Given the description of an element on the screen output the (x, y) to click on. 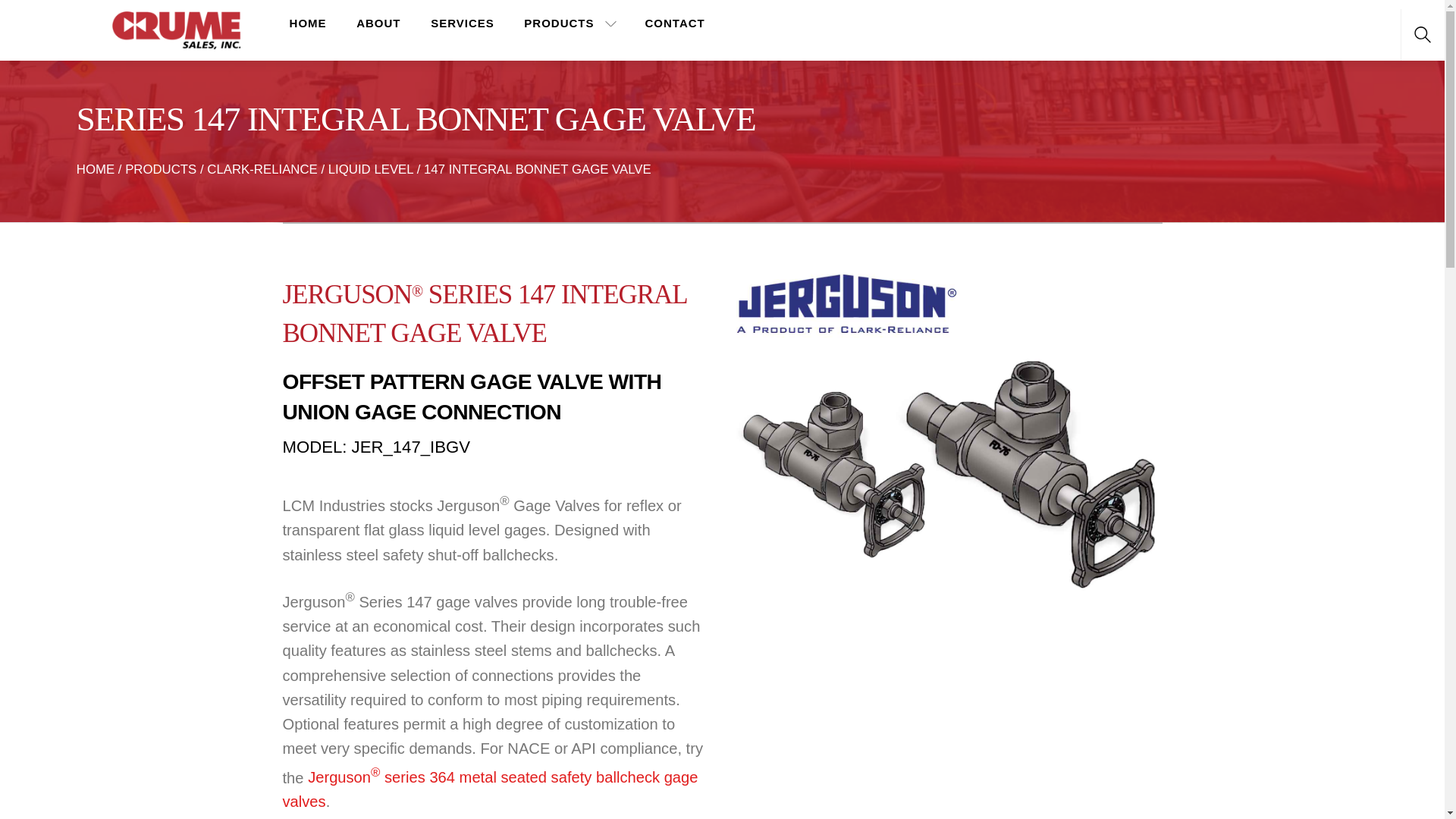
Crume Sales (176, 27)
CONTACT (674, 23)
HOME (307, 23)
ABOUT (379, 23)
SERVICES (462, 23)
PRODUCTS (569, 23)
PRODUCTS (160, 169)
HOME (96, 169)
